Given the description of an element on the screen output the (x, y) to click on. 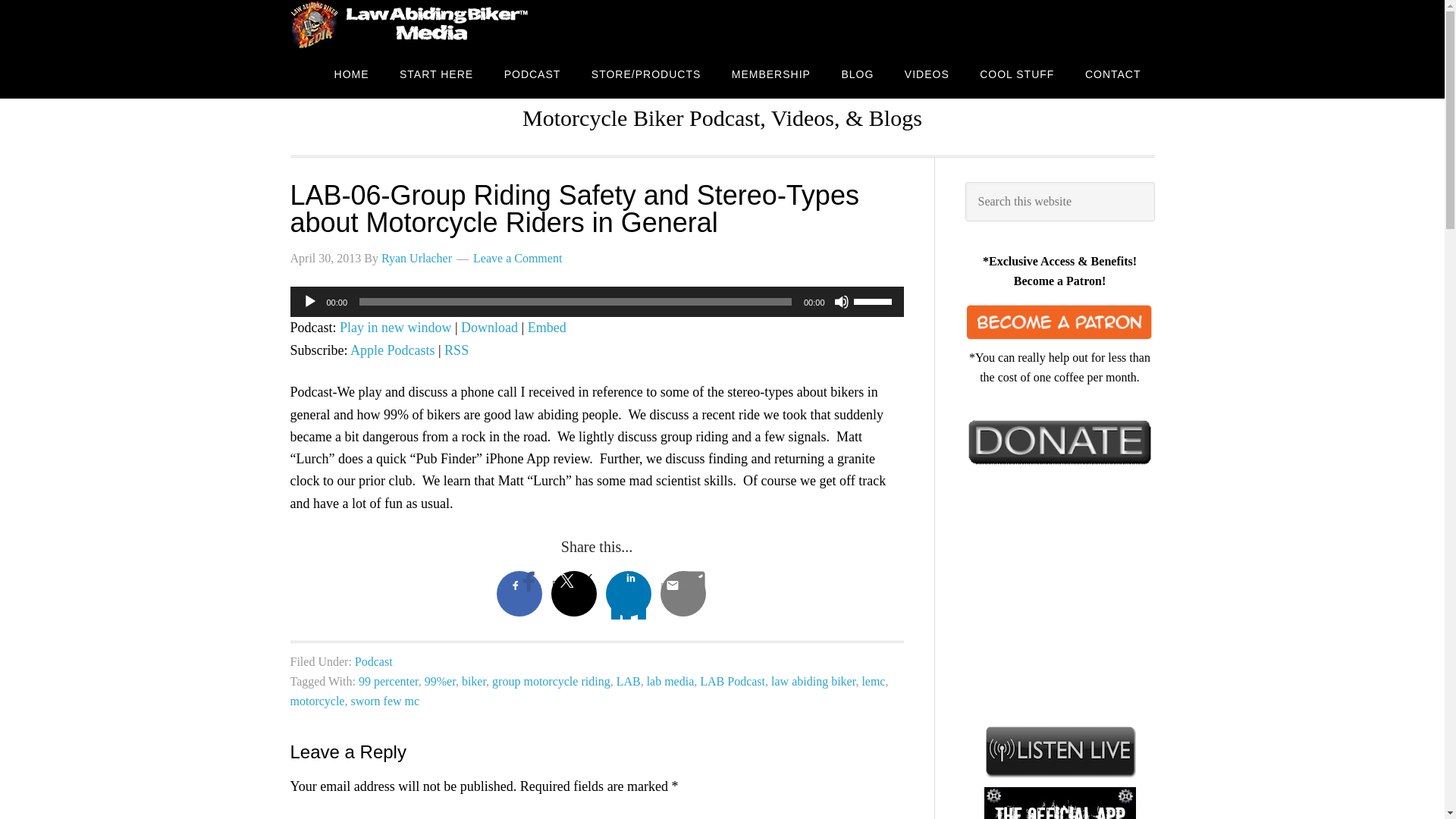
VIDEOS (926, 73)
Mute (841, 301)
Embed (546, 327)
START HERE (435, 73)
HOME (351, 73)
COOL STUFF (1016, 73)
Play (309, 301)
BLOG (856, 73)
Play in new window (395, 327)
